Given the description of an element on the screen output the (x, y) to click on. 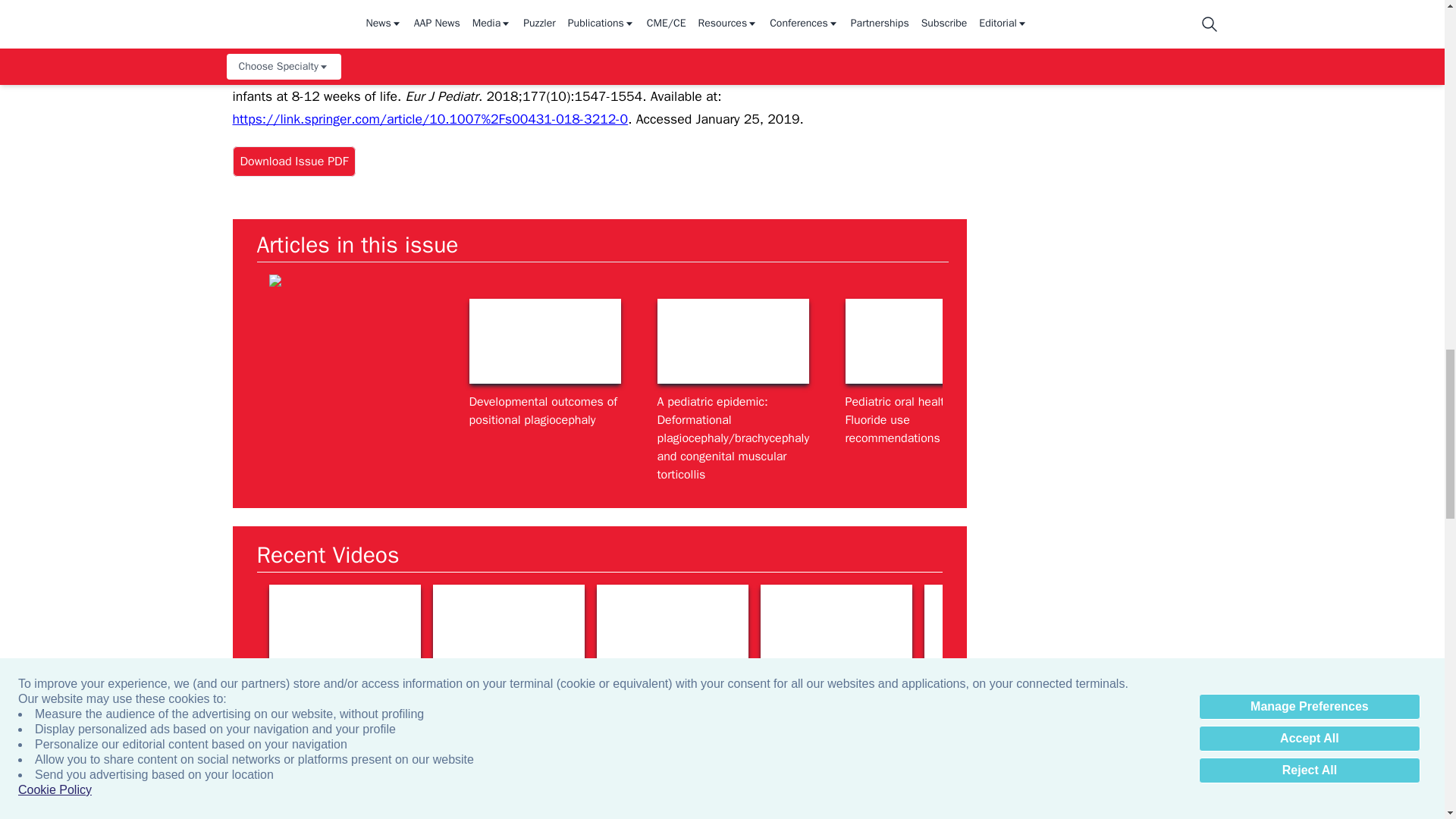
Lynn Malec, MD (671, 627)
3 KOLs are featured in this series. (835, 627)
Pediatric oral health: Fluoride use recommendations (919, 341)
3 KOLs are featured in this series. (343, 627)
Developmental outcomes of positional plagiocephaly (544, 341)
3 KOLs are featured in this series. (507, 627)
New therapeutic measure to combat influenza (1108, 341)
